Given the description of an element on the screen output the (x, y) to click on. 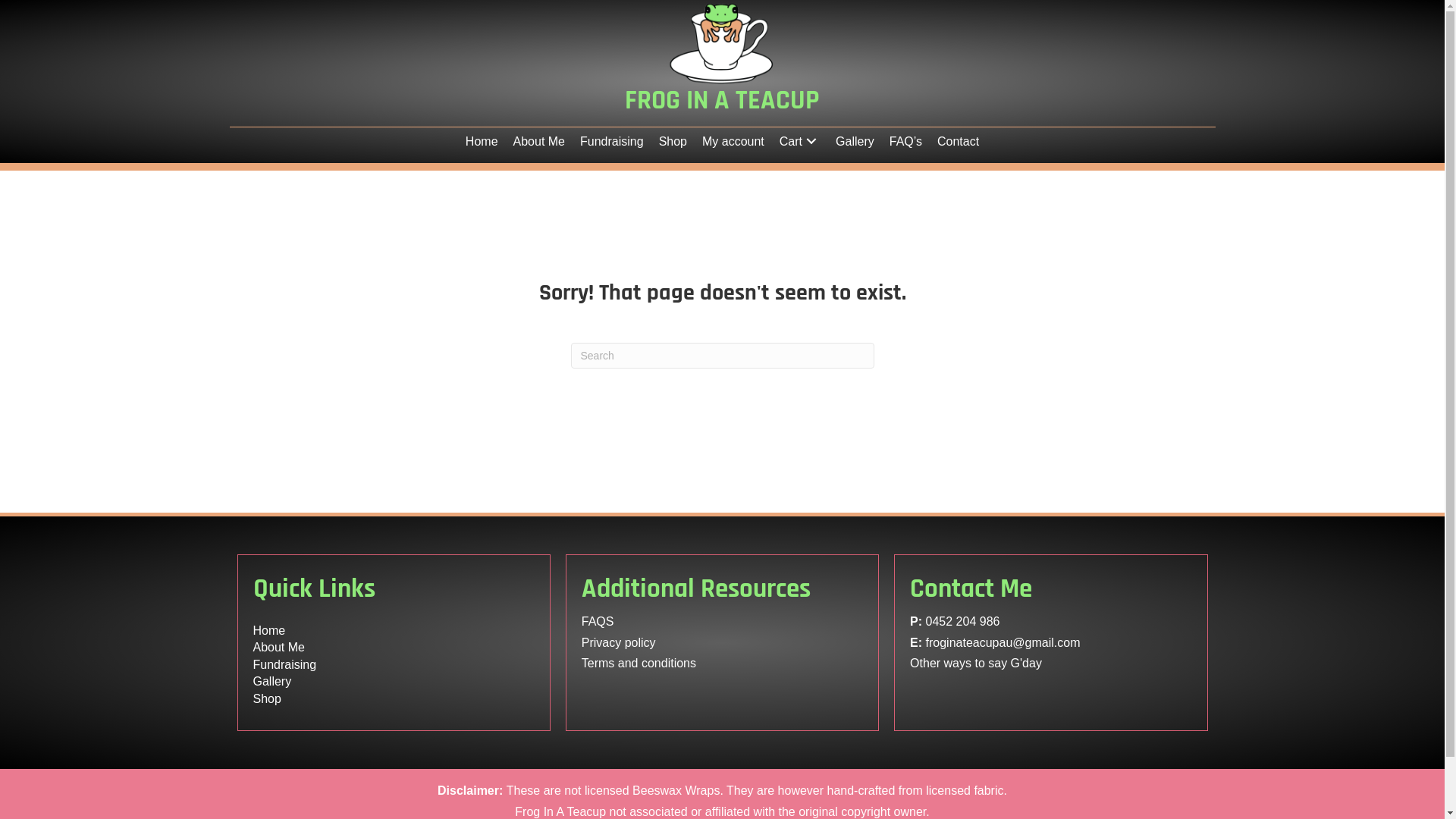
FAQS Element type: text (597, 621)
FIAT Logo Transparent Rectangle 20210626 Element type: hover (721, 42)
Contact Element type: text (957, 141)
About Me Element type: text (278, 646)
froginateacupau@gmail.com Element type: text (1002, 642)
Shop Element type: text (267, 698)
Home Element type: text (269, 630)
Type and press Enter to search. Element type: hover (721, 355)
Gallery Element type: text (854, 141)
Shop Element type: text (672, 141)
Cart Element type: text (799, 141)
Fundraising Element type: text (611, 141)
About Me Element type: text (538, 141)
Home Element type: text (481, 141)
Terms and conditions Element type: text (638, 662)
Privacy policy Element type: text (618, 642)
Gallery Element type: text (272, 680)
Fundraising Element type: text (284, 664)
0452 204 986 Element type: text (962, 621)
My account Element type: text (732, 141)
Other ways to say G'day Element type: text (975, 662)
